Given the description of an element on the screen output the (x, y) to click on. 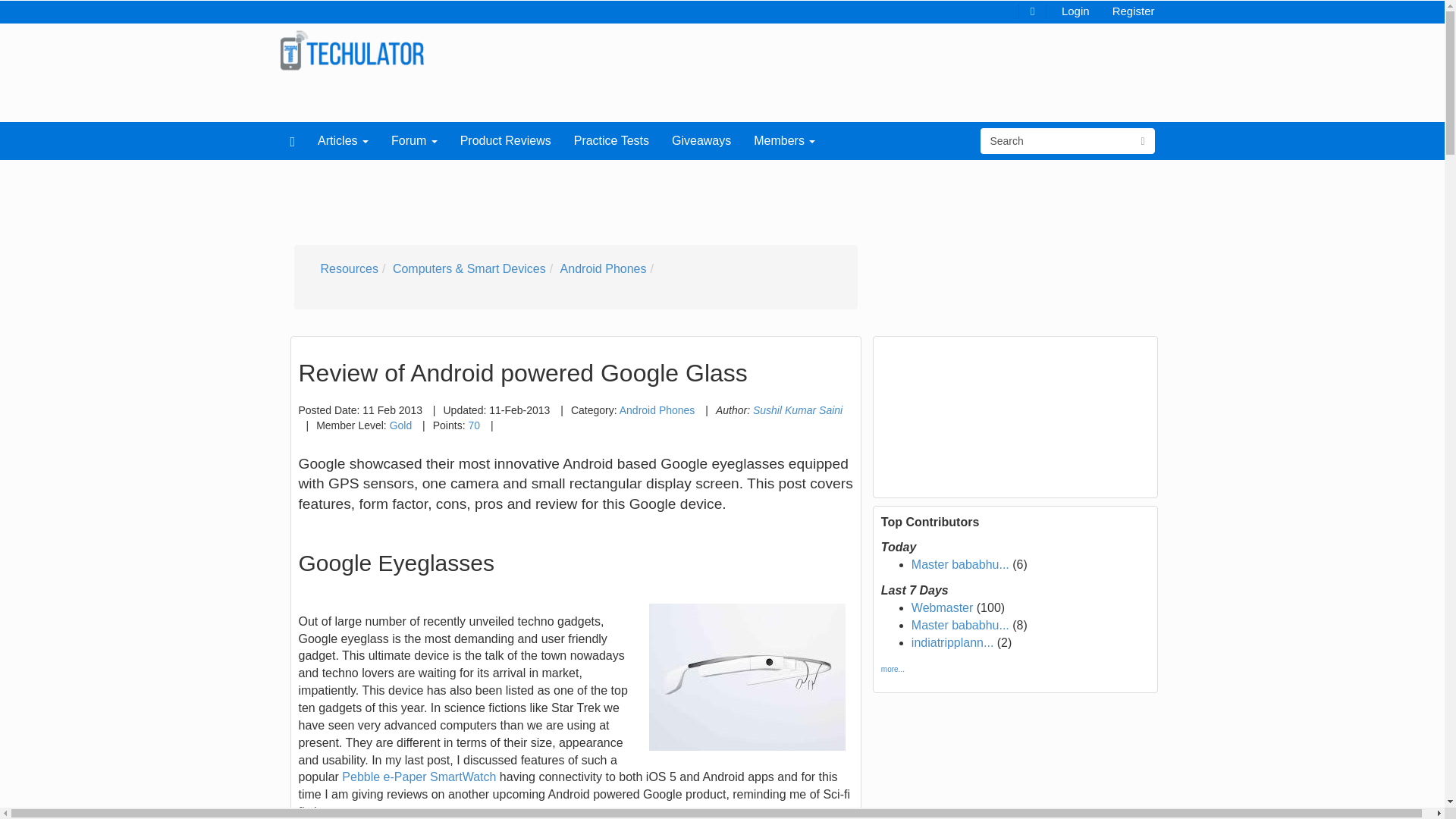
Forum (414, 140)
Articles (342, 140)
Search (1055, 140)
Login (1074, 9)
Software and Gadget reviews (352, 50)
Total Points: 11345 (401, 425)
Register (1133, 9)
Advertisement (642, 197)
